Given the description of an element on the screen output the (x, y) to click on. 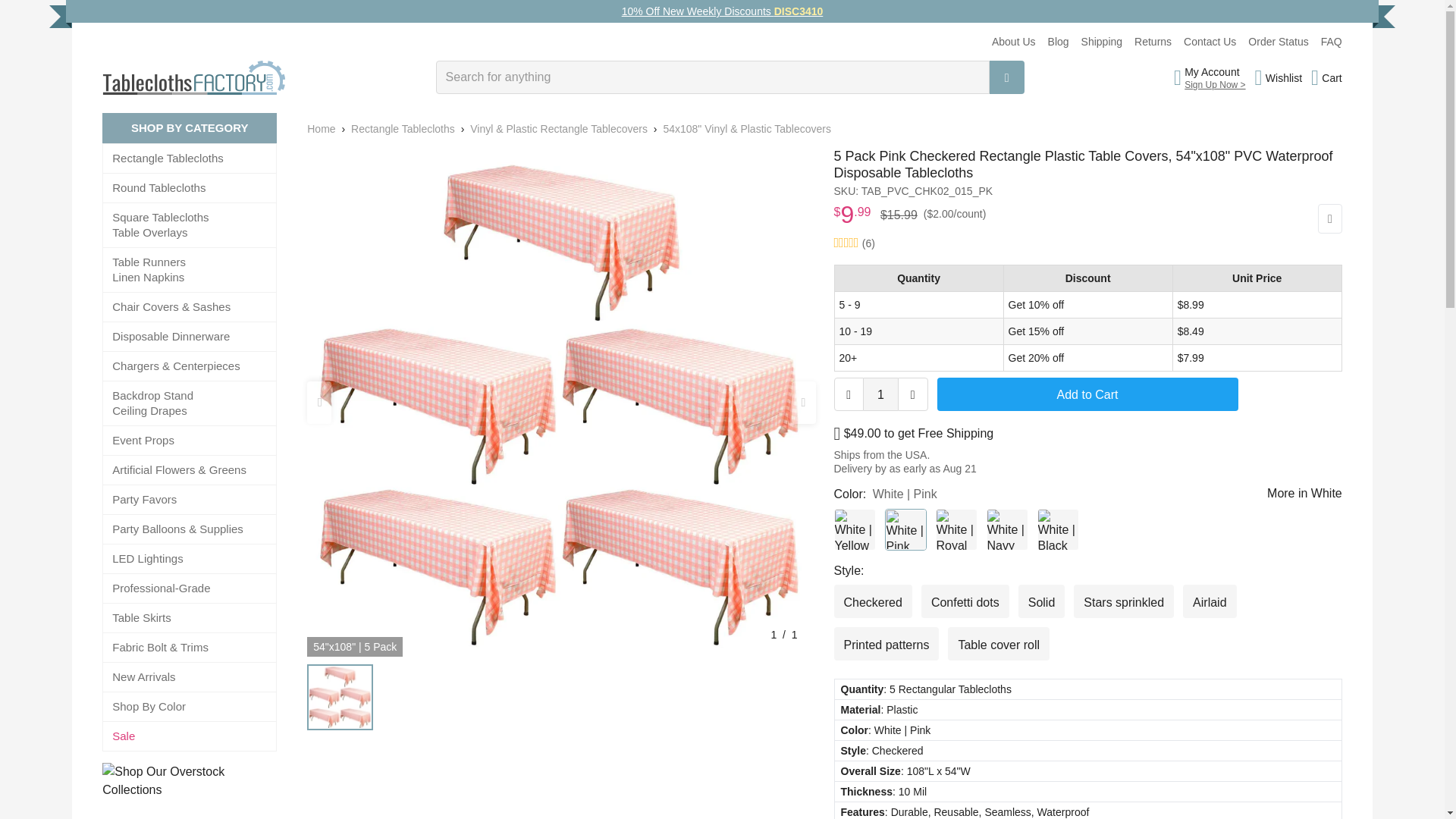
Cart (1326, 77)
Contact Us (1209, 41)
Checkered (873, 601)
Table cover roll (998, 643)
My Account (1214, 71)
Back to the frontpage (320, 128)
Shipping (1101, 41)
Returns (1153, 41)
Blog (1058, 41)
Printed patterns (886, 643)
